Given the description of an element on the screen output the (x, y) to click on. 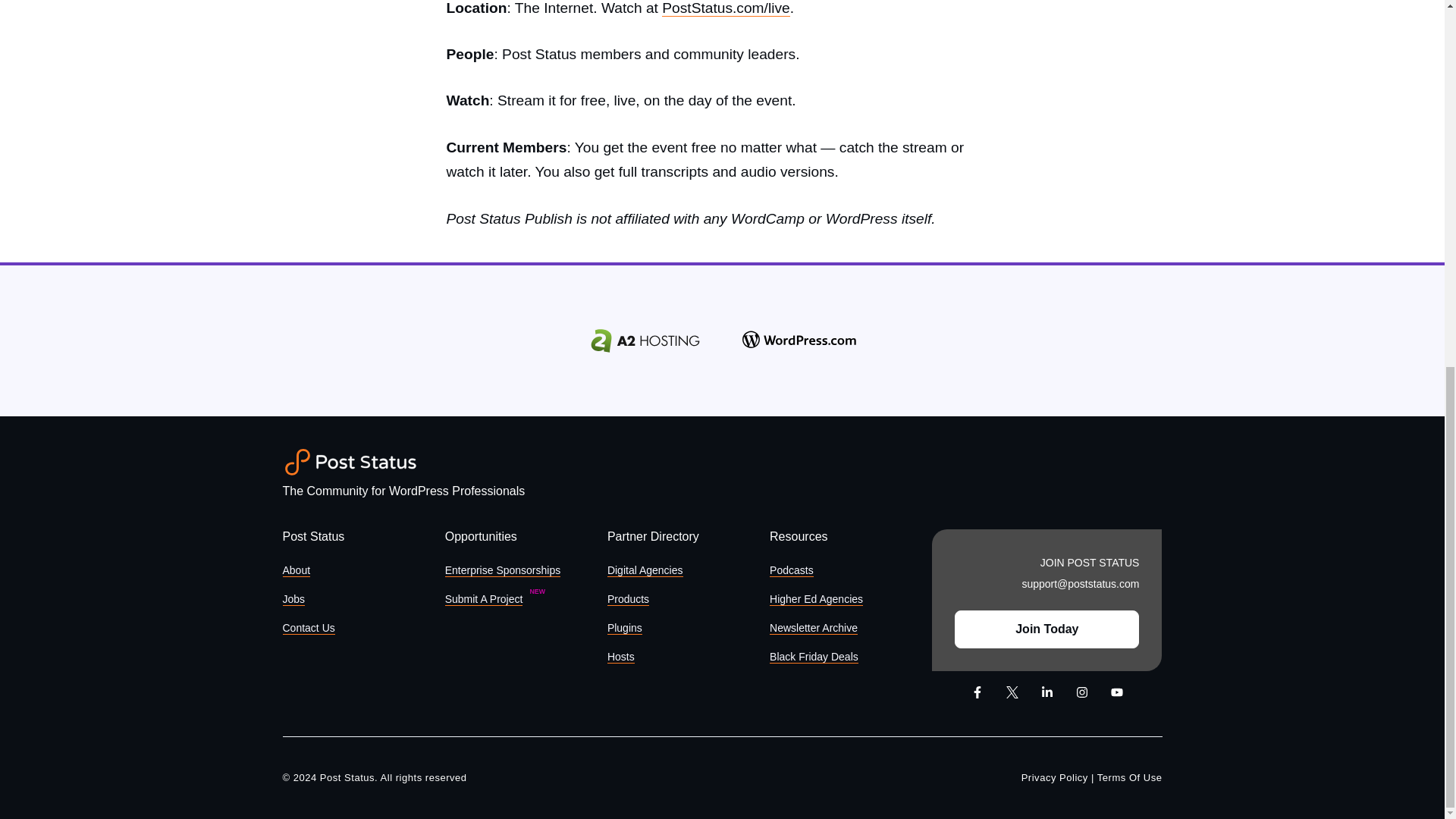
Jobs (293, 599)
Post Status (350, 462)
A2 Hosting (644, 340)
Enterprise Sponsorships (502, 570)
Black Friday Deals (814, 656)
Newsletter Archive (813, 627)
Submit A Project (483, 599)
Join Today (1046, 629)
Digital Agencies (644, 570)
WordPress.com (799, 340)
Plugins (624, 627)
Products (628, 599)
Privacy Policy (1054, 777)
Hosts (620, 656)
Contact Us (308, 627)
